Given the description of an element on the screen output the (x, y) to click on. 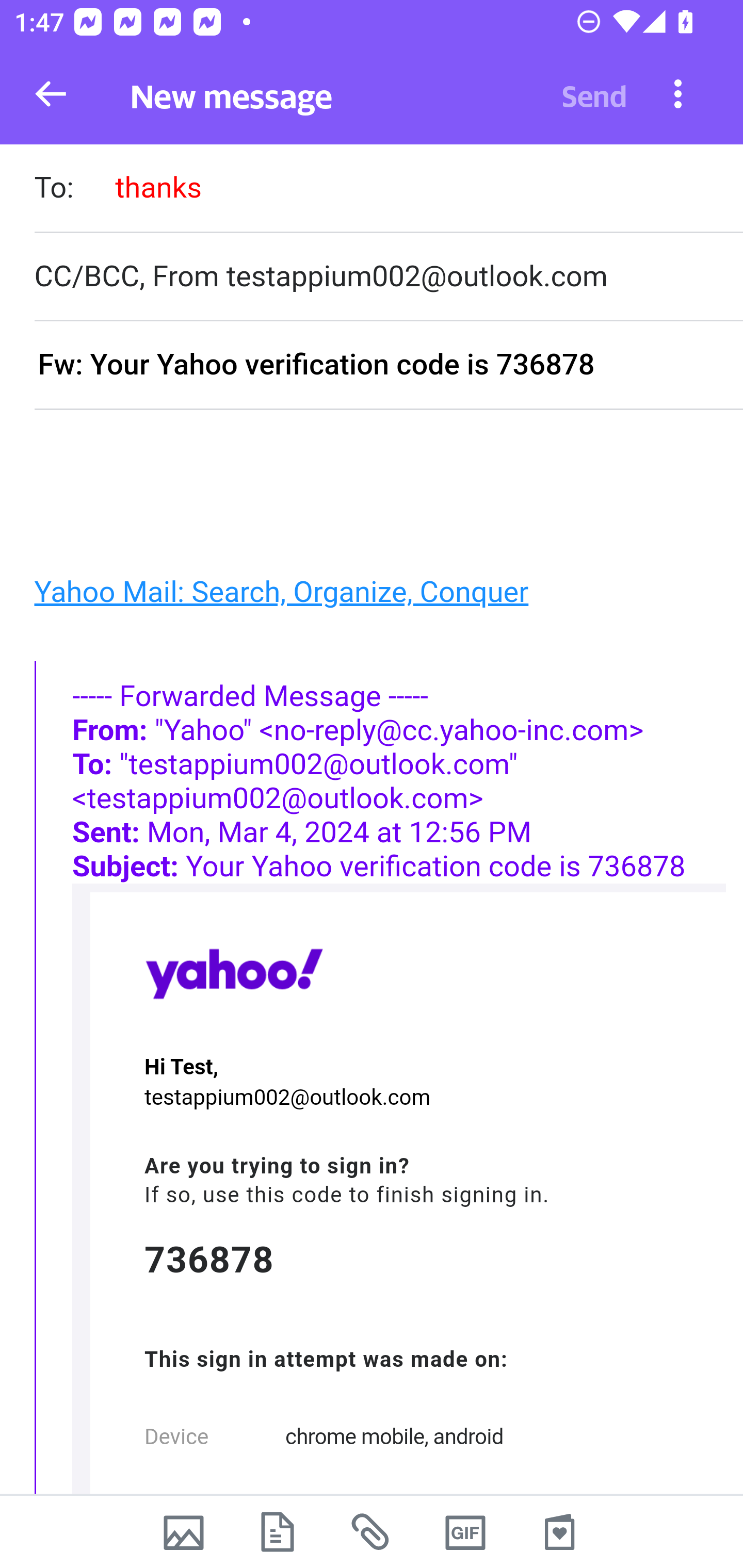
Back (50, 93)
Send (594, 93)
More options (677, 93)
To: thanks (387, 189)
thanks (157, 187)
CC/BCC, From testappium002@outlook.com (387, 276)
Fw: Your Yahoo verification code is 736878 (387, 365)
Yahoo Mail: Search, Organize, Conquer (280, 591)
Camera photos (183, 1531)
Device files (277, 1531)
Recent attachments from mail (371, 1531)
GIFs (465, 1531)
Stationery (559, 1531)
